Given the description of an element on the screen output the (x, y) to click on. 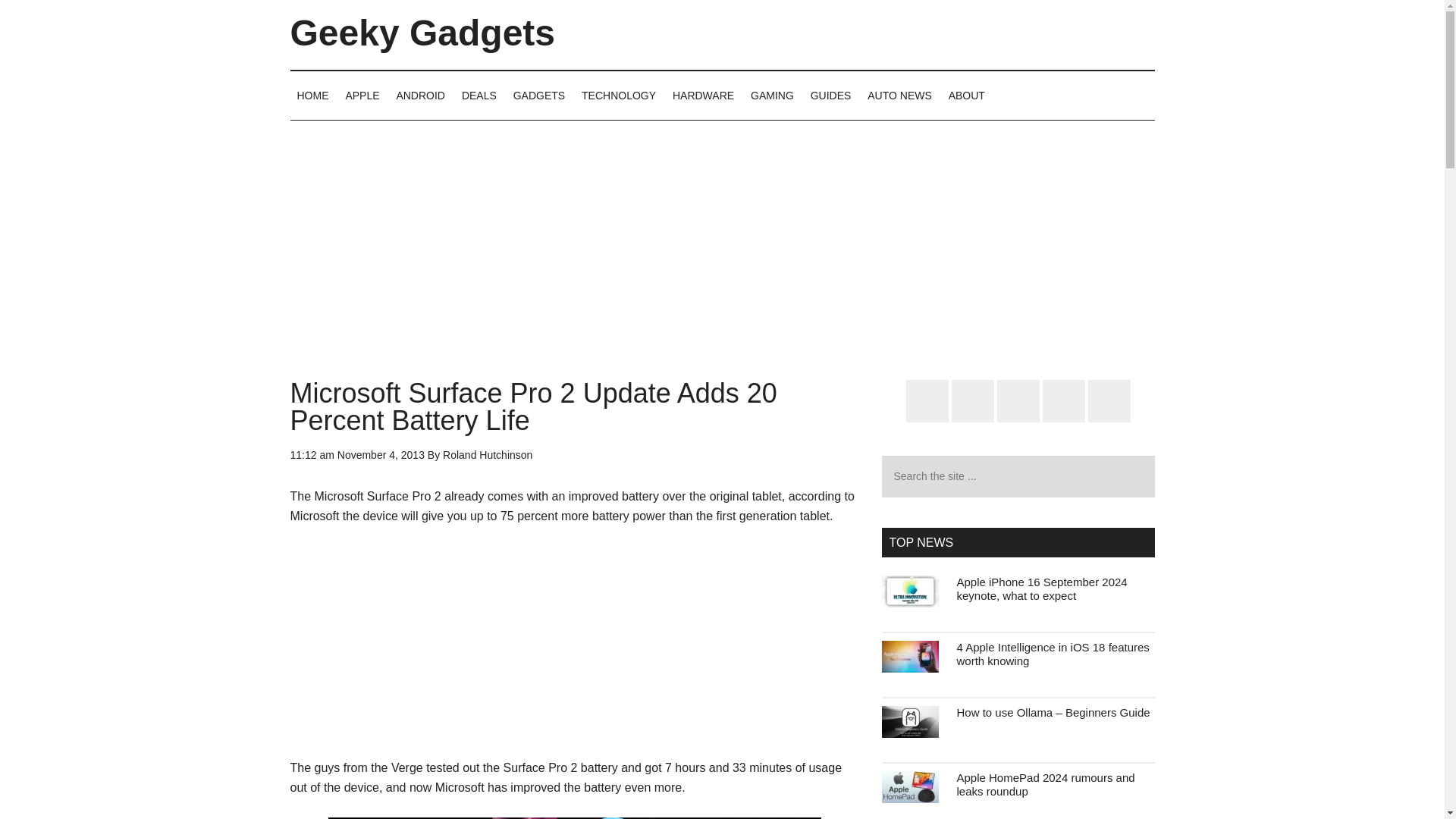
GADGETS (539, 95)
HARDWARE (703, 95)
DEALS (478, 95)
Apple HomePad 2024 rumours and leaks roundup (1045, 784)
AUTO NEWS (899, 95)
Roland Hutchinson (487, 454)
ABOUT (966, 95)
About Geeky Gadgets (966, 95)
APPLE (361, 95)
4 Apple Intelligence in iOS 18 features worth knowing (1053, 653)
Apple iPhone 16 September 2024 keynote, what to expect (1041, 588)
TECHNOLOGY (618, 95)
